Given the description of an element on the screen output the (x, y) to click on. 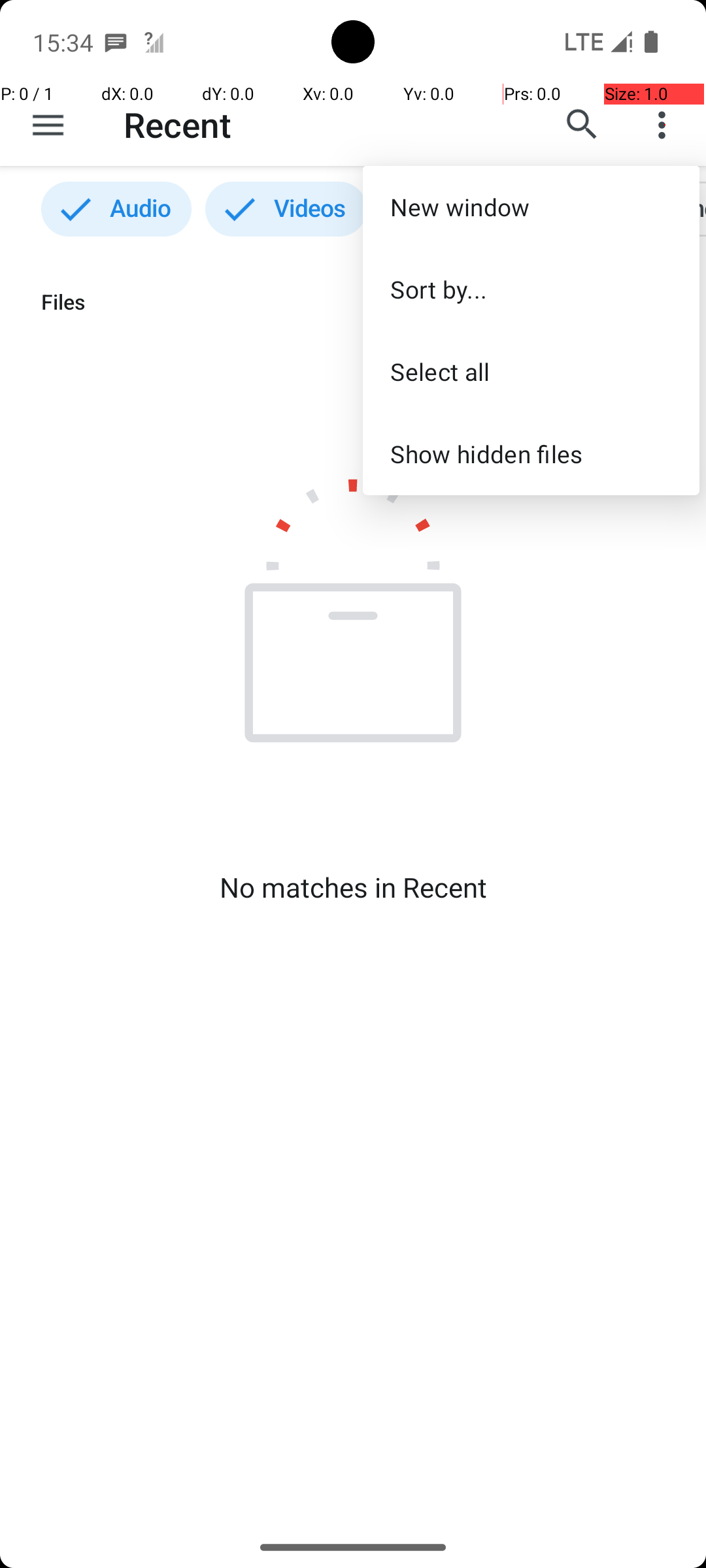
New window Element type: android.widget.TextView (531, 206)
Sort by... Element type: android.widget.TextView (531, 288)
Select all Element type: android.widget.TextView (531, 371)
Show hidden files Element type: android.widget.TextView (531, 453)
